Given the description of an element on the screen output the (x, y) to click on. 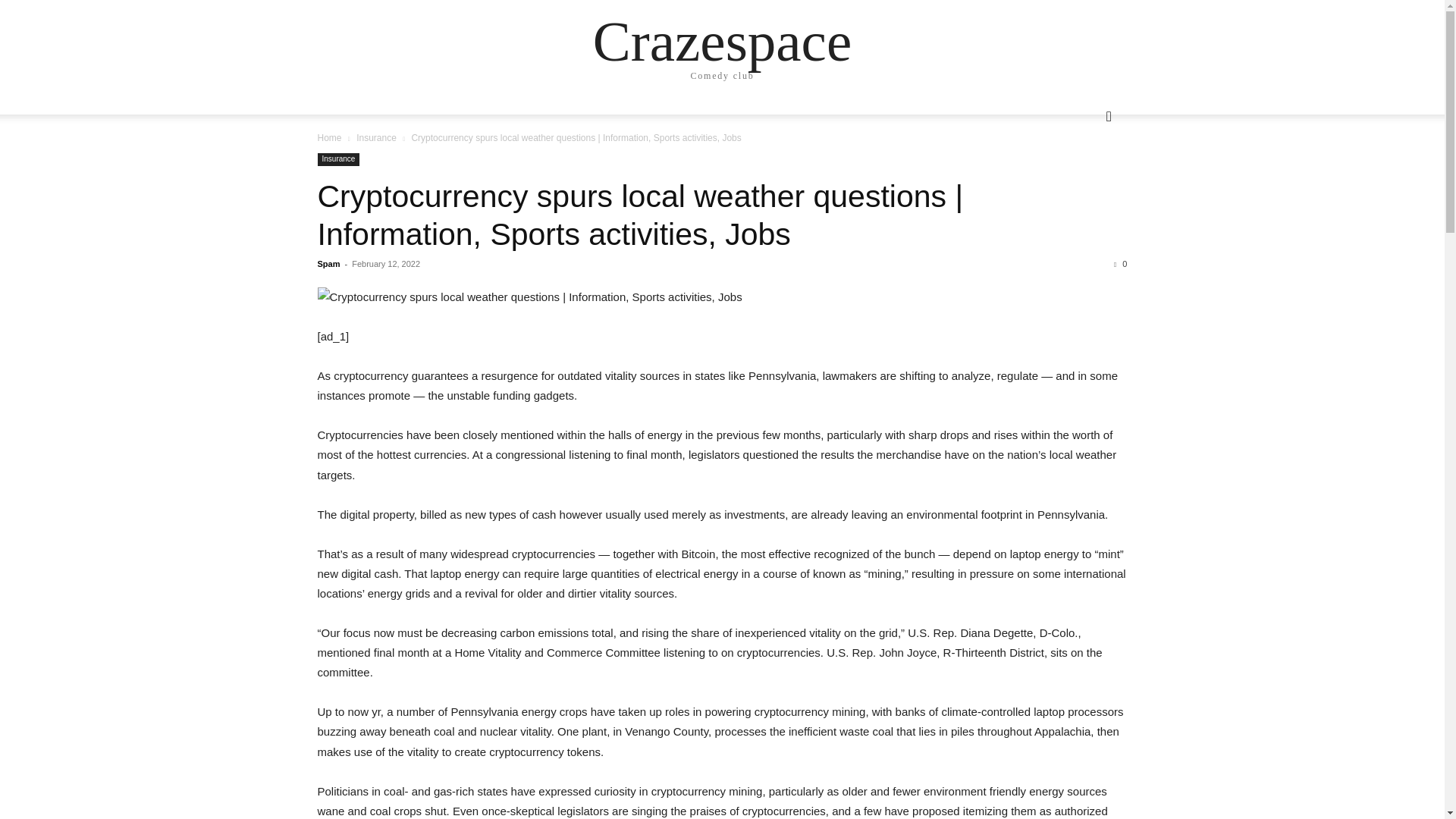
View all posts in Insurance (376, 137)
Crazespace (721, 41)
Home (328, 137)
Spam (328, 263)
Insurance (338, 159)
Search (1085, 177)
0 (1119, 263)
Insurance (376, 137)
